Given the description of an element on the screen output the (x, y) to click on. 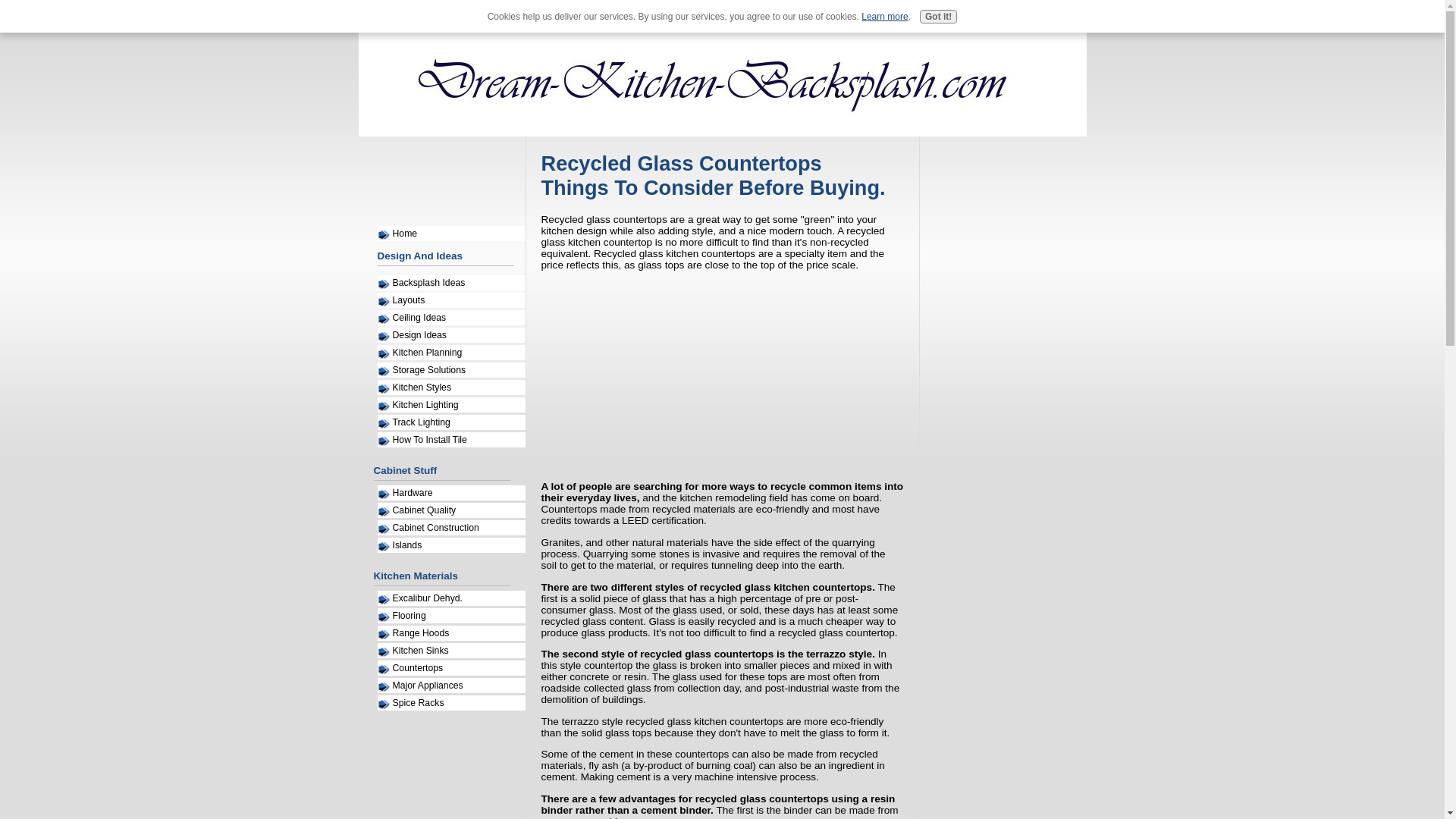
Cabinet Quality (451, 509)
Kitchen Styles (451, 387)
Islands (451, 544)
Track Lighting (451, 421)
Got it! (938, 16)
Ceiling Ideas (451, 317)
Layouts (451, 299)
Kitchen Lighting (451, 404)
Advertisement (433, 185)
Flooring (451, 615)
